Given the description of an element on the screen output the (x, y) to click on. 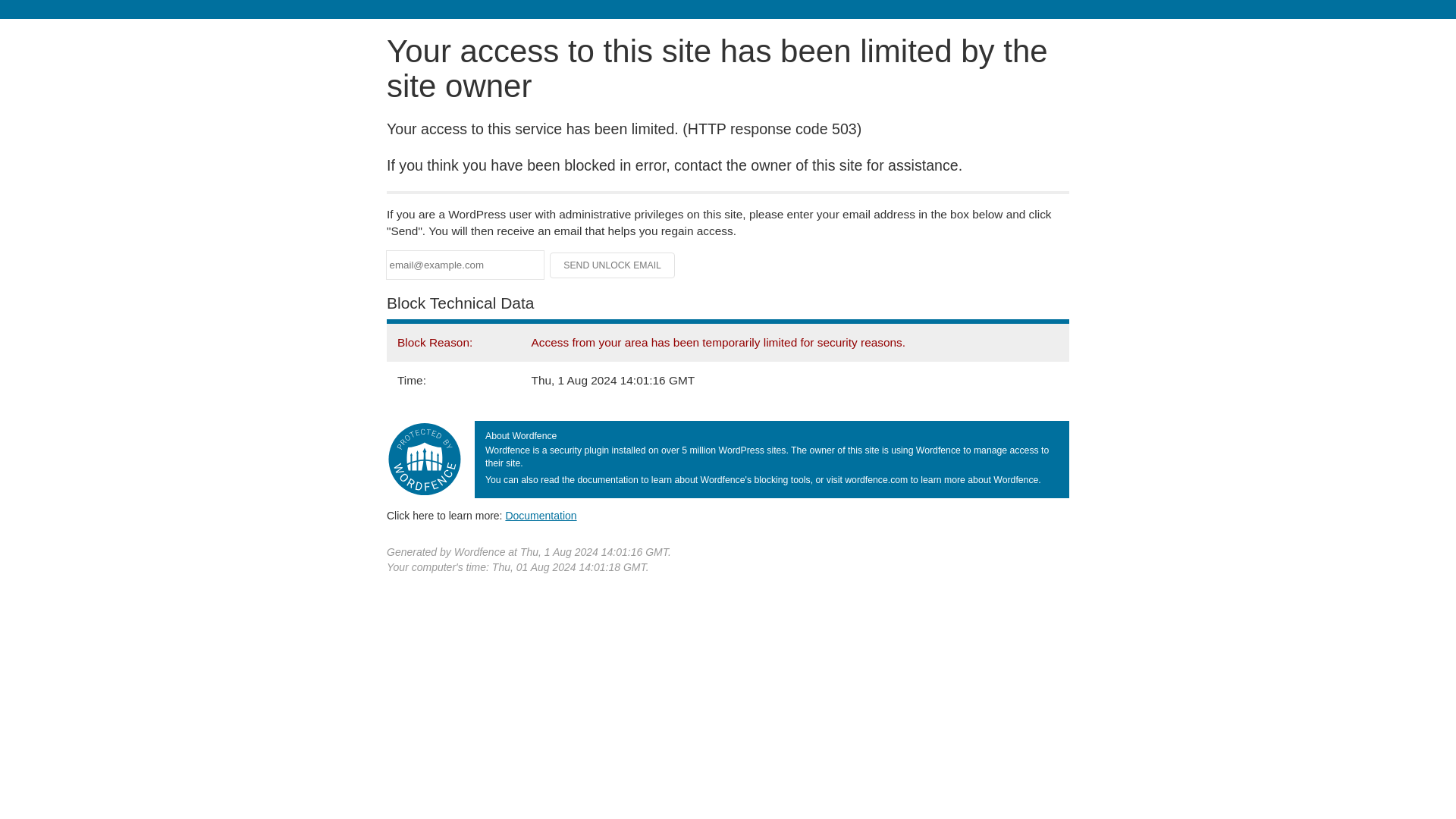
Documentation (540, 515)
Send Unlock Email (612, 265)
Send Unlock Email (612, 265)
